Given the description of an element on the screen output the (x, y) to click on. 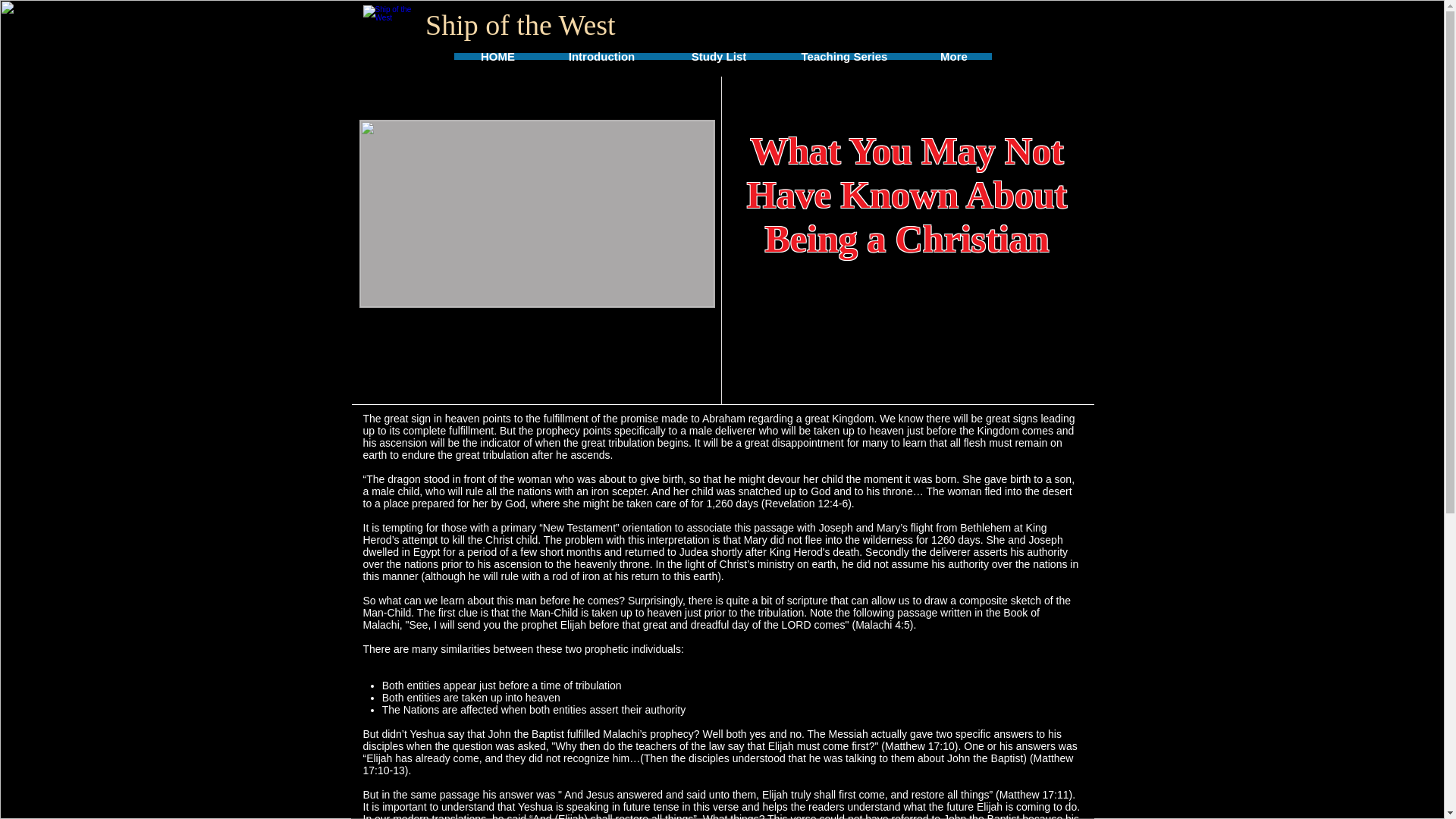
Introduction (601, 56)
Teaching Series (844, 56)
Study List (719, 56)
Ship of the West (389, 26)
1541536628705.png (536, 213)
HOME (498, 56)
